Given the description of an element on the screen output the (x, y) to click on. 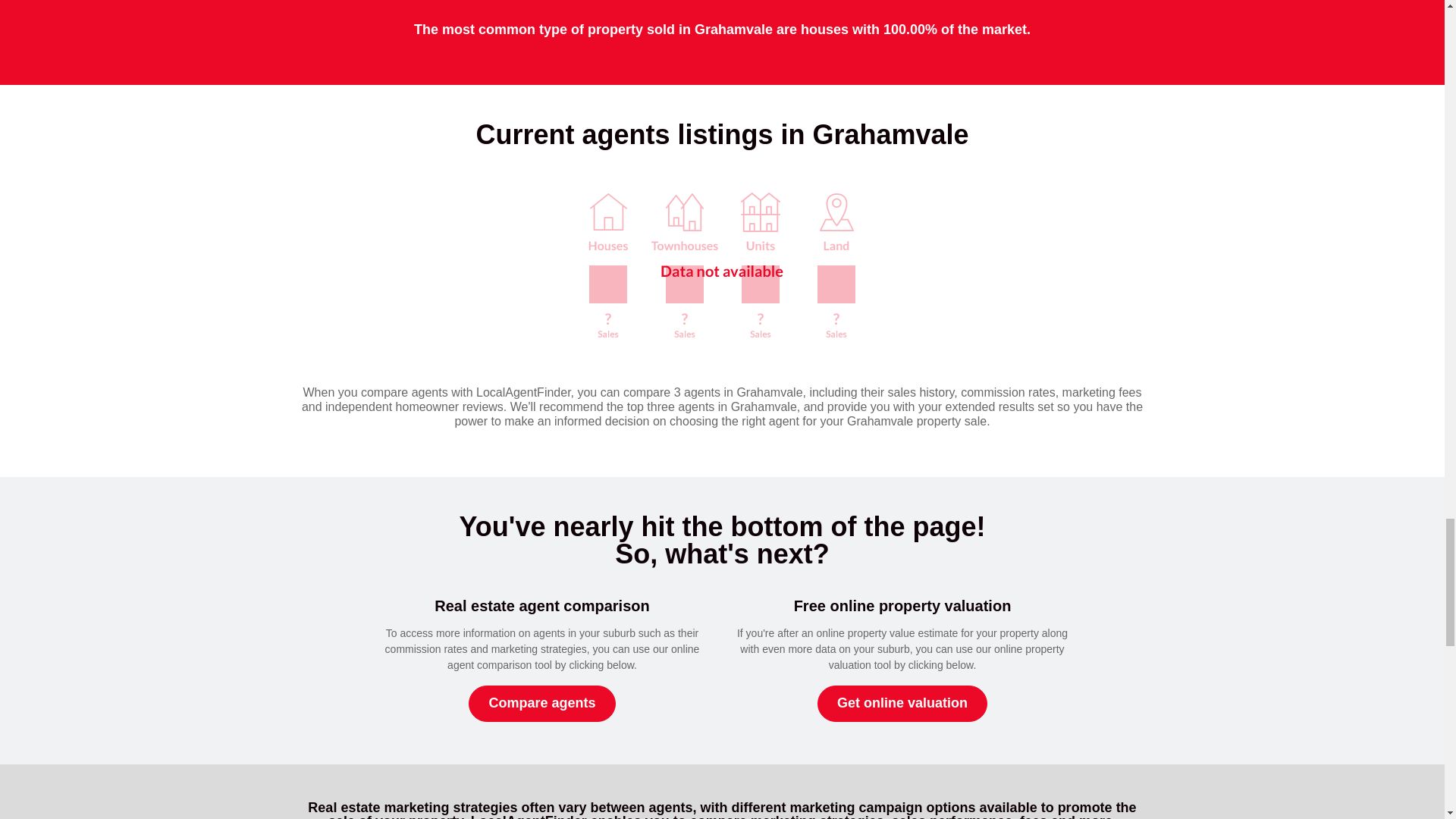
Get online valuation (901, 703)
Compare agents (541, 703)
